Given the description of an element on the screen output the (x, y) to click on. 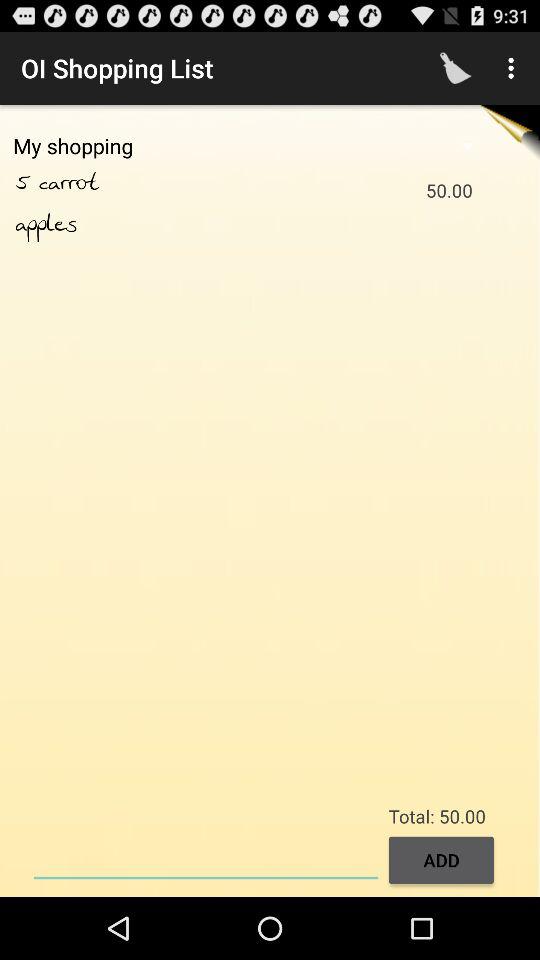
press icon below the my shopping app (90, 183)
